Given the description of an element on the screen output the (x, y) to click on. 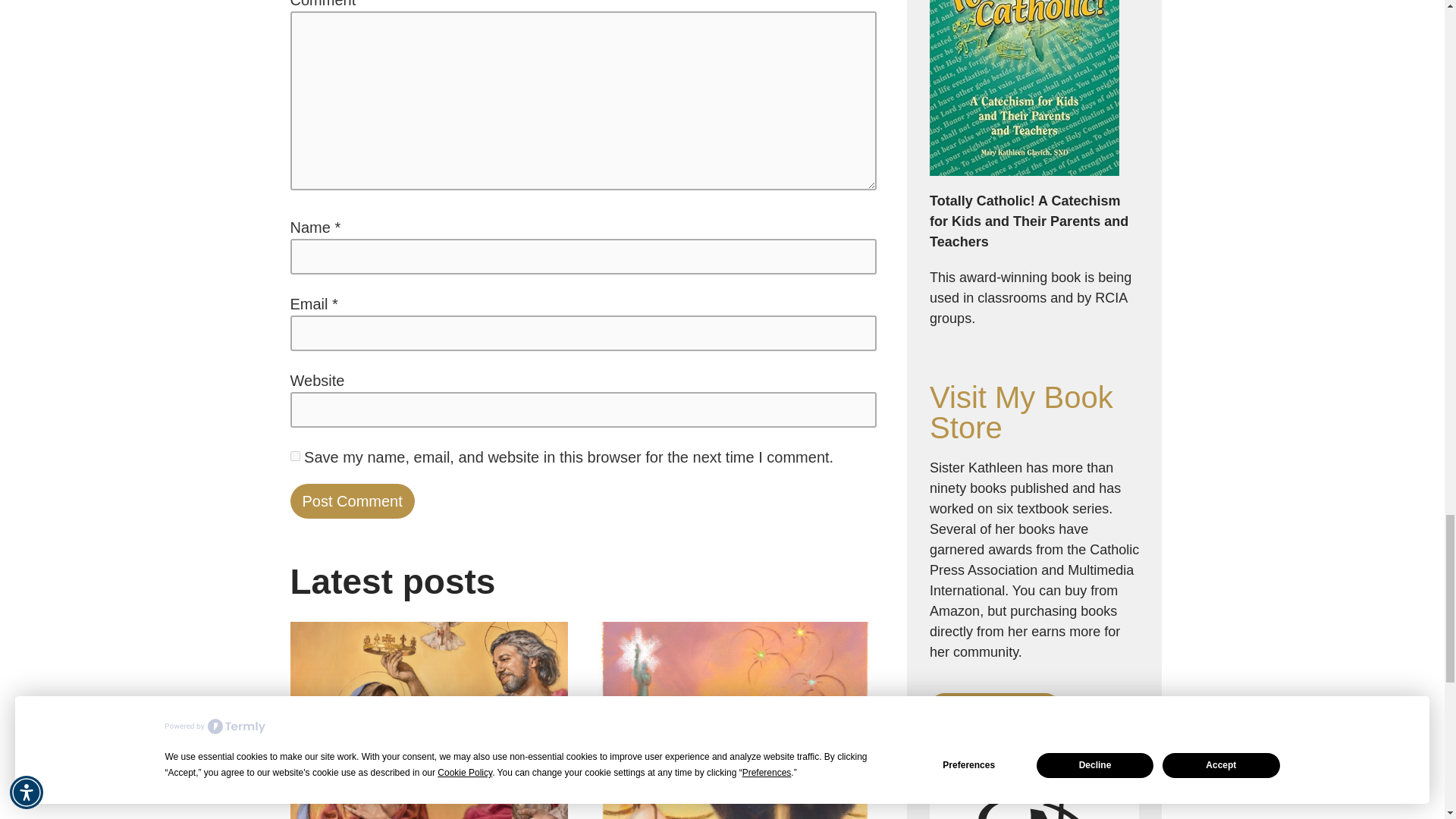
yes (294, 456)
Post Comment (351, 501)
